Given the description of an element on the screen output the (x, y) to click on. 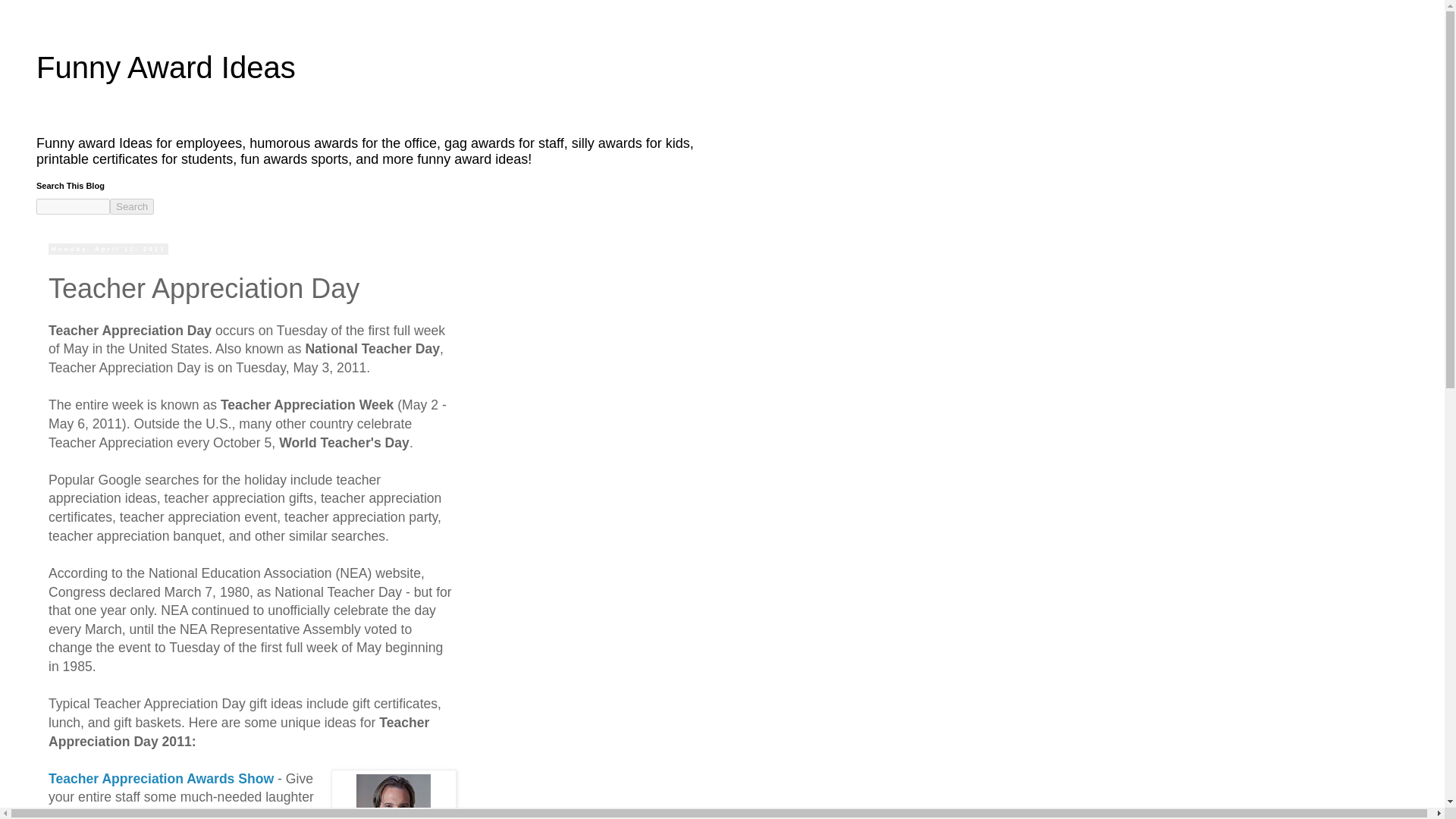
Search (132, 206)
Search (132, 206)
Funny Award Ideas (165, 67)
Teacher Appreciation Awards Show (160, 778)
search (73, 206)
Search (132, 206)
search (132, 206)
